Given the description of an element on the screen output the (x, y) to click on. 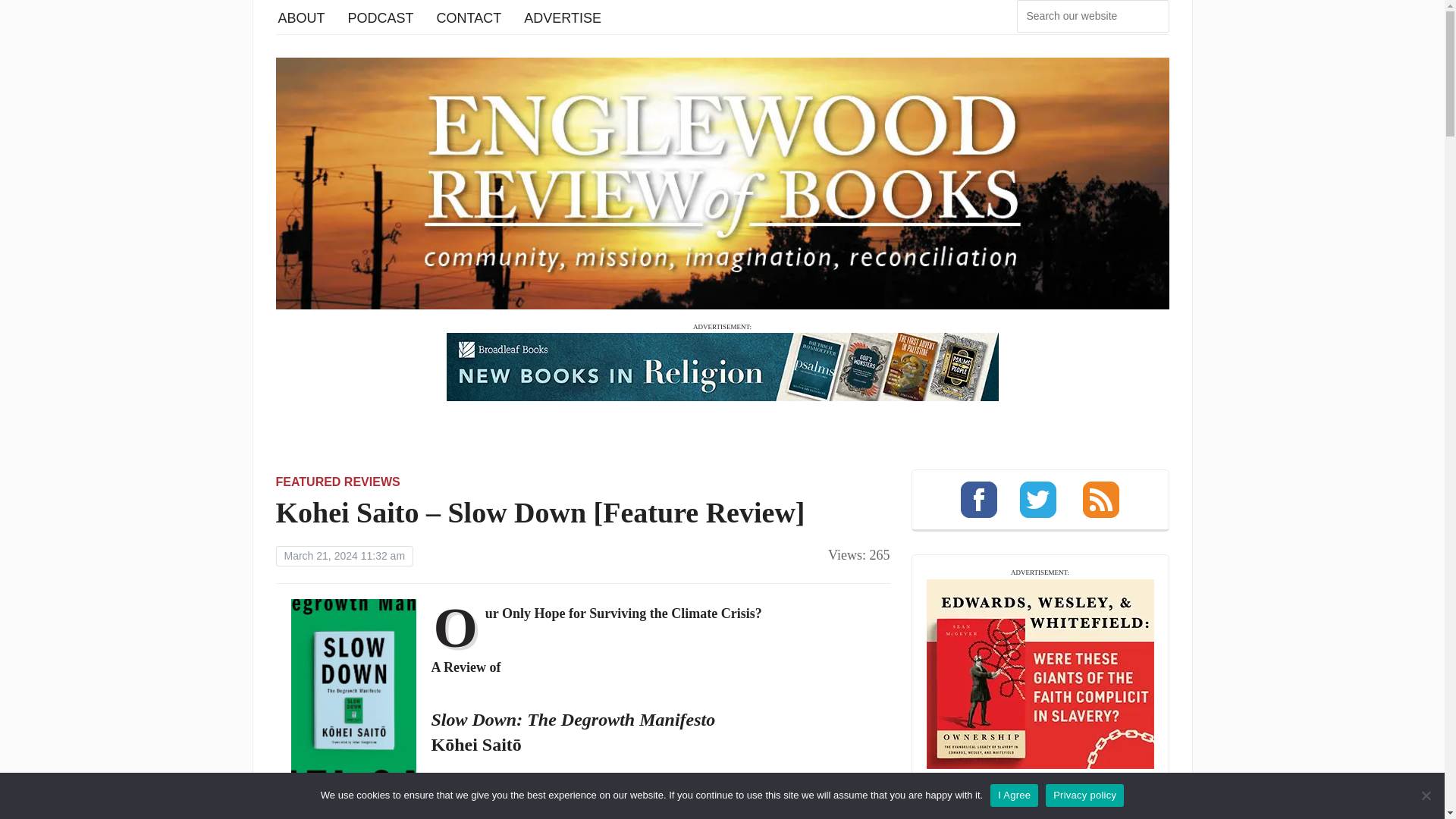
Kindle (511, 812)
Audible (572, 812)
BookShop (374, 812)
CONTACT (469, 17)
Amazon (447, 812)
ABOUT (301, 17)
ADVERTISE (562, 17)
FEATURED REVIEWS (338, 481)
PODCAST (380, 17)
